Given the description of an element on the screen output the (x, y) to click on. 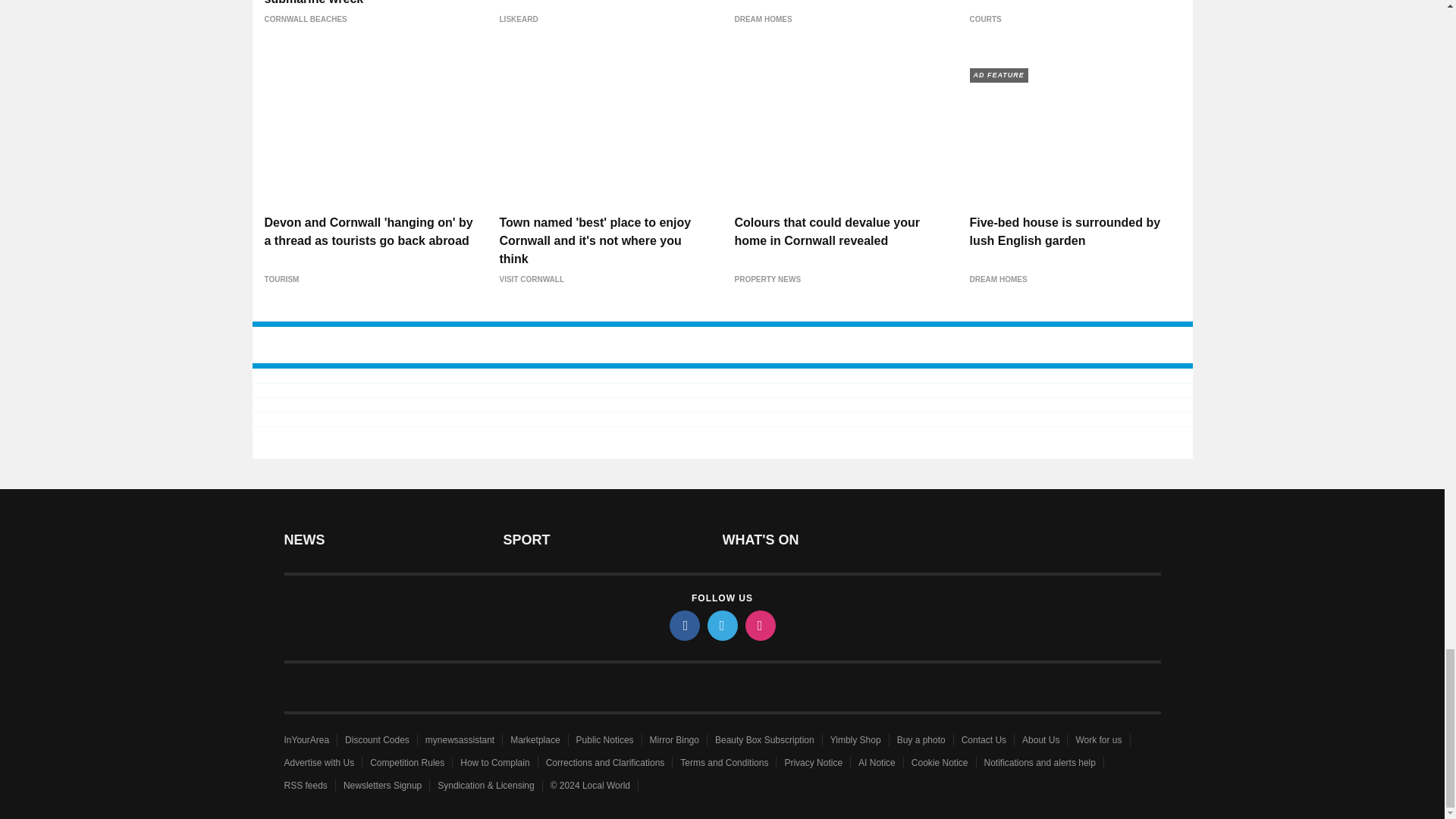
instagram (759, 625)
facebook (683, 625)
twitter (721, 625)
